Given the description of an element on the screen output the (x, y) to click on. 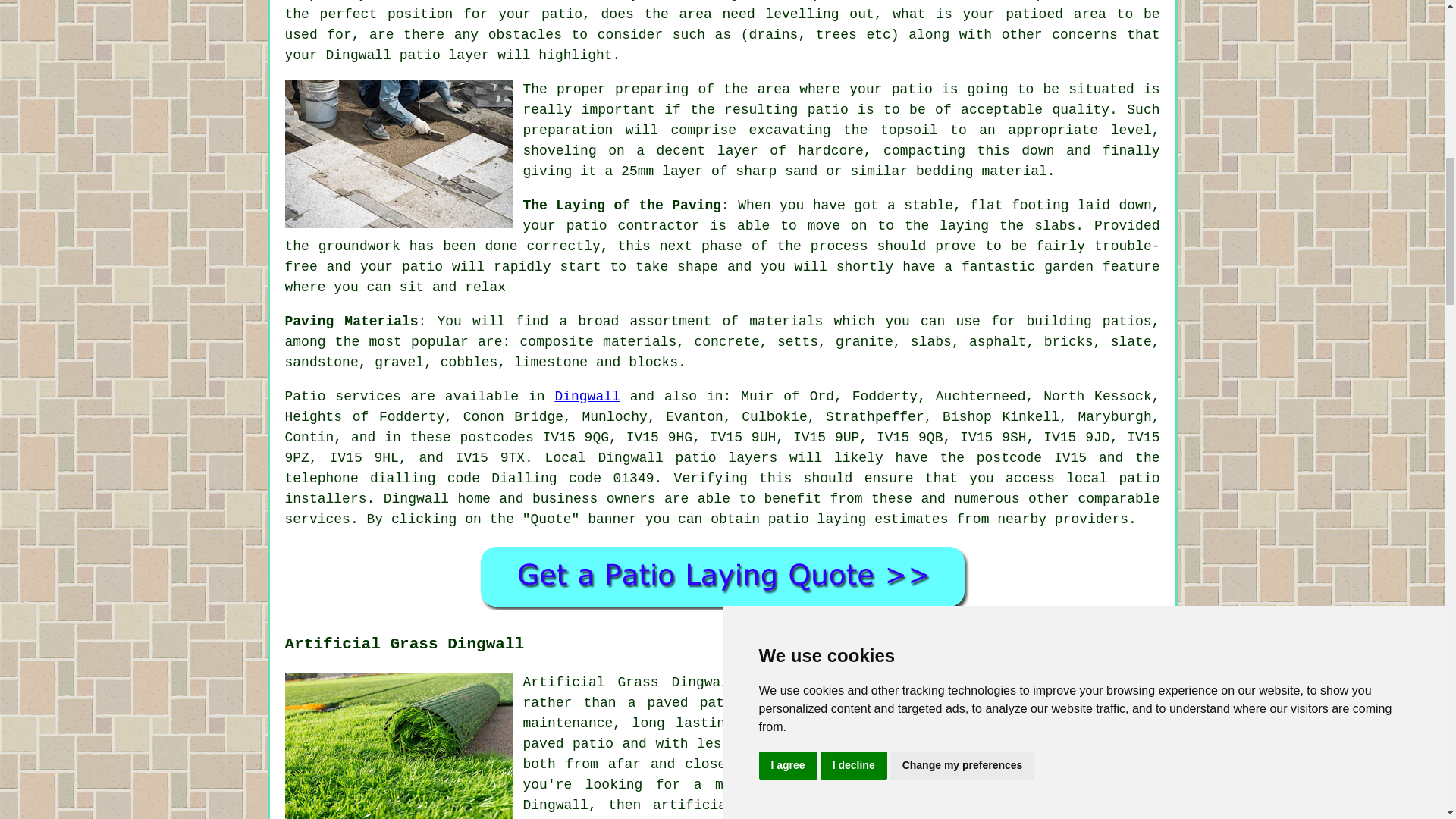
Patio (305, 396)
slabs (931, 341)
patio (419, 55)
bricks (1068, 341)
gravel (398, 362)
patio layers (726, 458)
concrete (726, 341)
hardcore (830, 150)
patio (586, 225)
obstacles (524, 34)
